Given the description of an element on the screen output the (x, y) to click on. 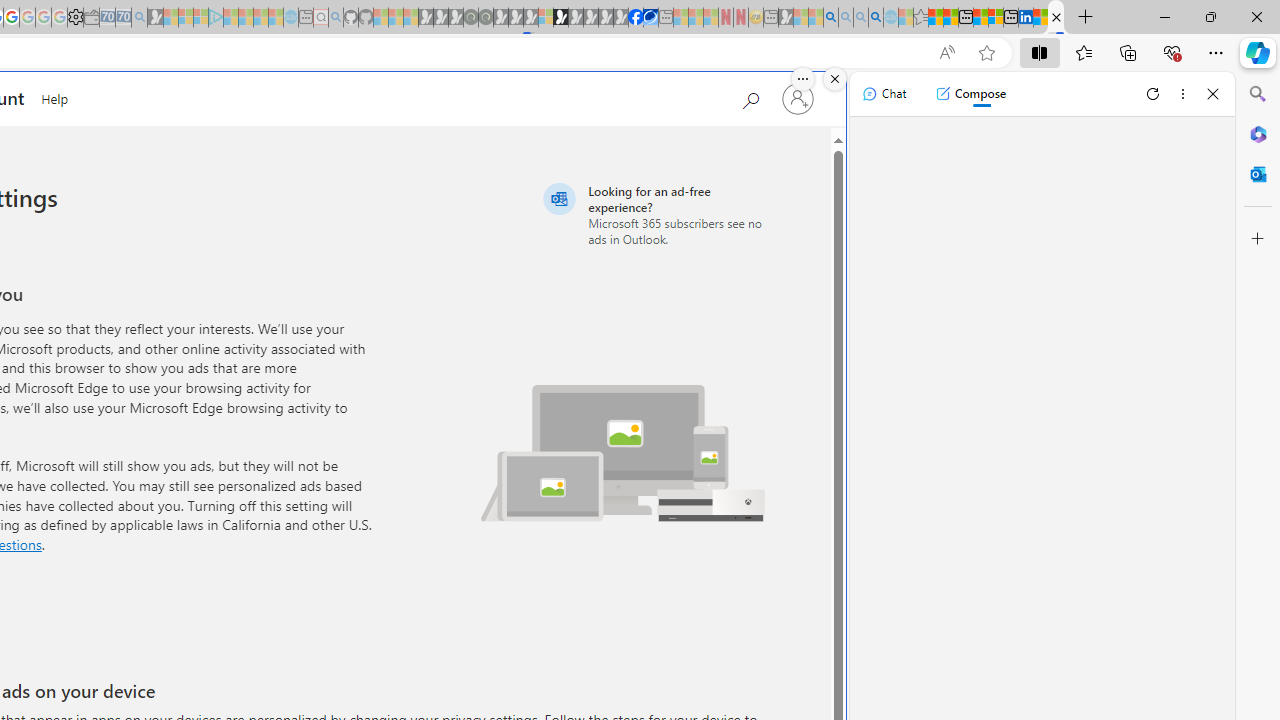
Bing Real Estate - Home sales and rental listings - Sleeping (139, 17)
github - Search - Sleeping (336, 17)
Help (55, 96)
LinkedIn (1025, 17)
Sign in to your account (797, 98)
Search Microsoft.com (750, 97)
